Given the description of an element on the screen output the (x, y) to click on. 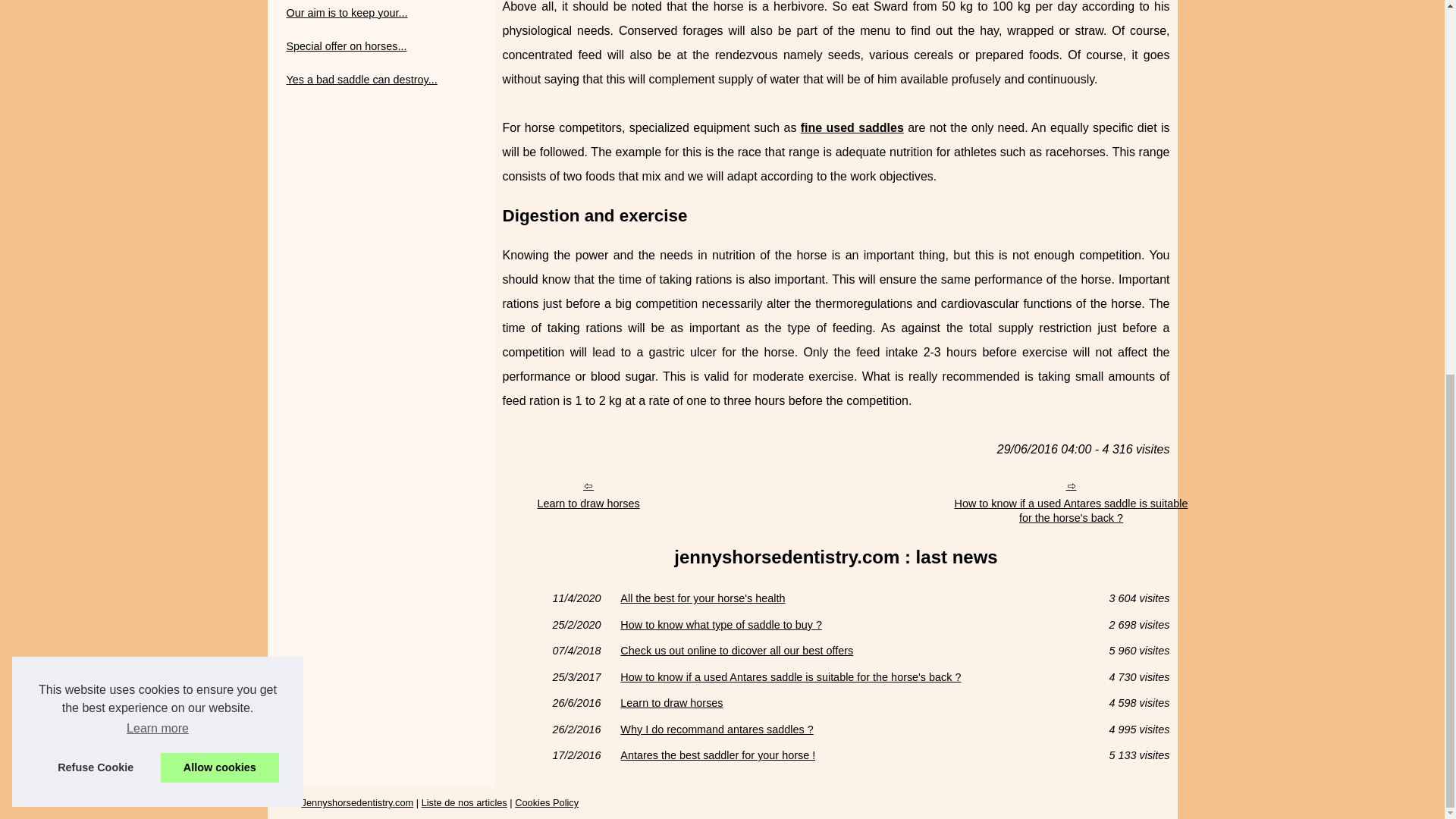
Learn to draw horses (587, 494)
Check us out online to dicover all our best offers (850, 650)
Learn to draw horses (587, 494)
Why I do recommand antares saddles ? (850, 728)
Allow cookies (219, 79)
Why I do recommand antares saddles ? (850, 728)
Learn to draw horses (850, 702)
How to know what type of saddle to buy ? (850, 624)
Jennyshorsedentistry.com (357, 802)
All the best for your horse's health (850, 597)
